Given the description of an element on the screen output the (x, y) to click on. 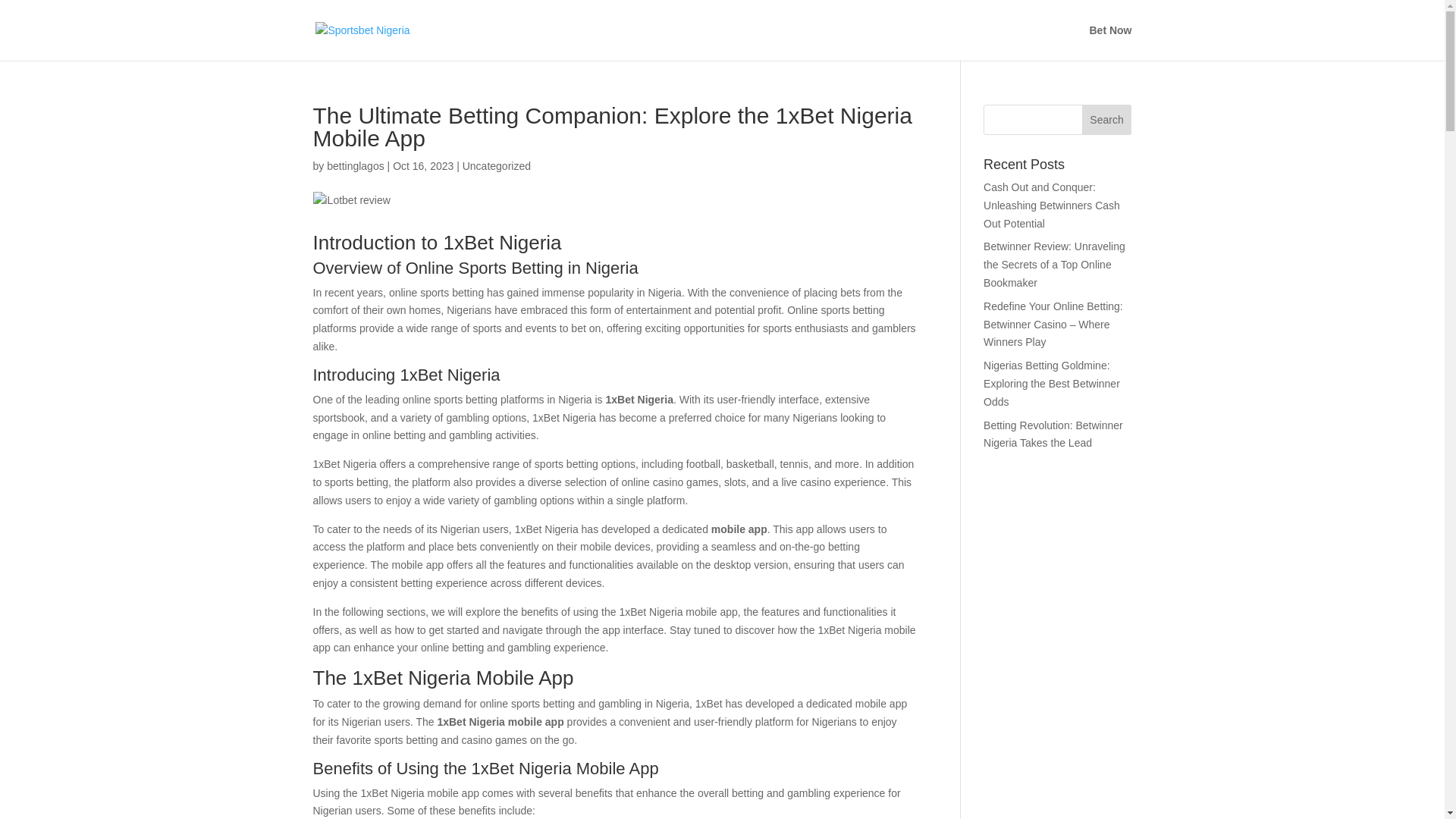
Uncategorized (497, 165)
Betting Revolution: Betwinner Nigeria Takes the Lead (1053, 434)
Nigerias Betting Goldmine: Exploring the Best Betwinner Odds (1051, 383)
Bet Now (1110, 42)
Search (1106, 119)
Search (1106, 119)
bettinglagos (355, 165)
Posts by bettinglagos (355, 165)
